Given the description of an element on the screen output the (x, y) to click on. 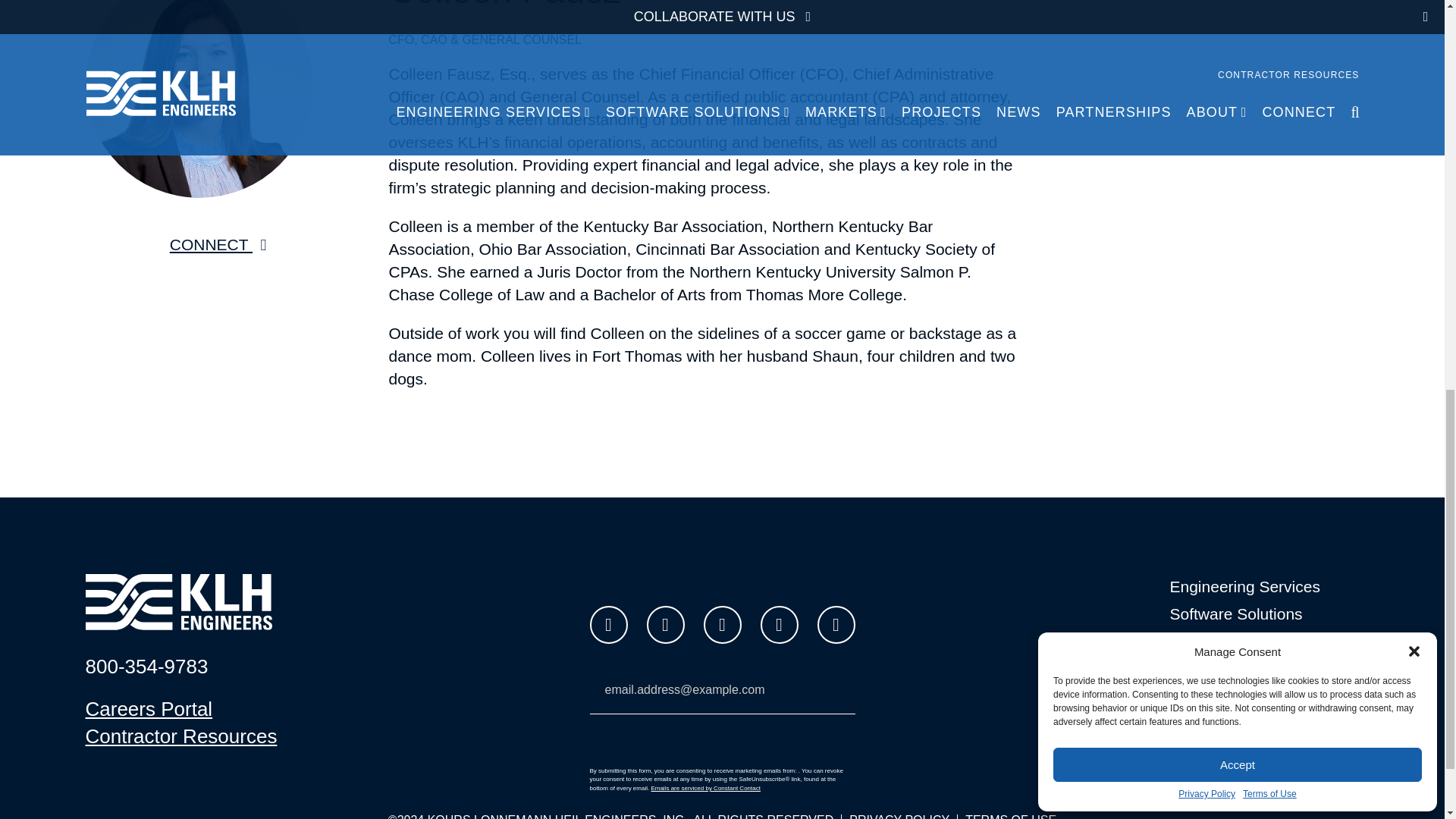
Subscribe for Updates (722, 739)
